Given the description of an element on the screen output the (x, y) to click on. 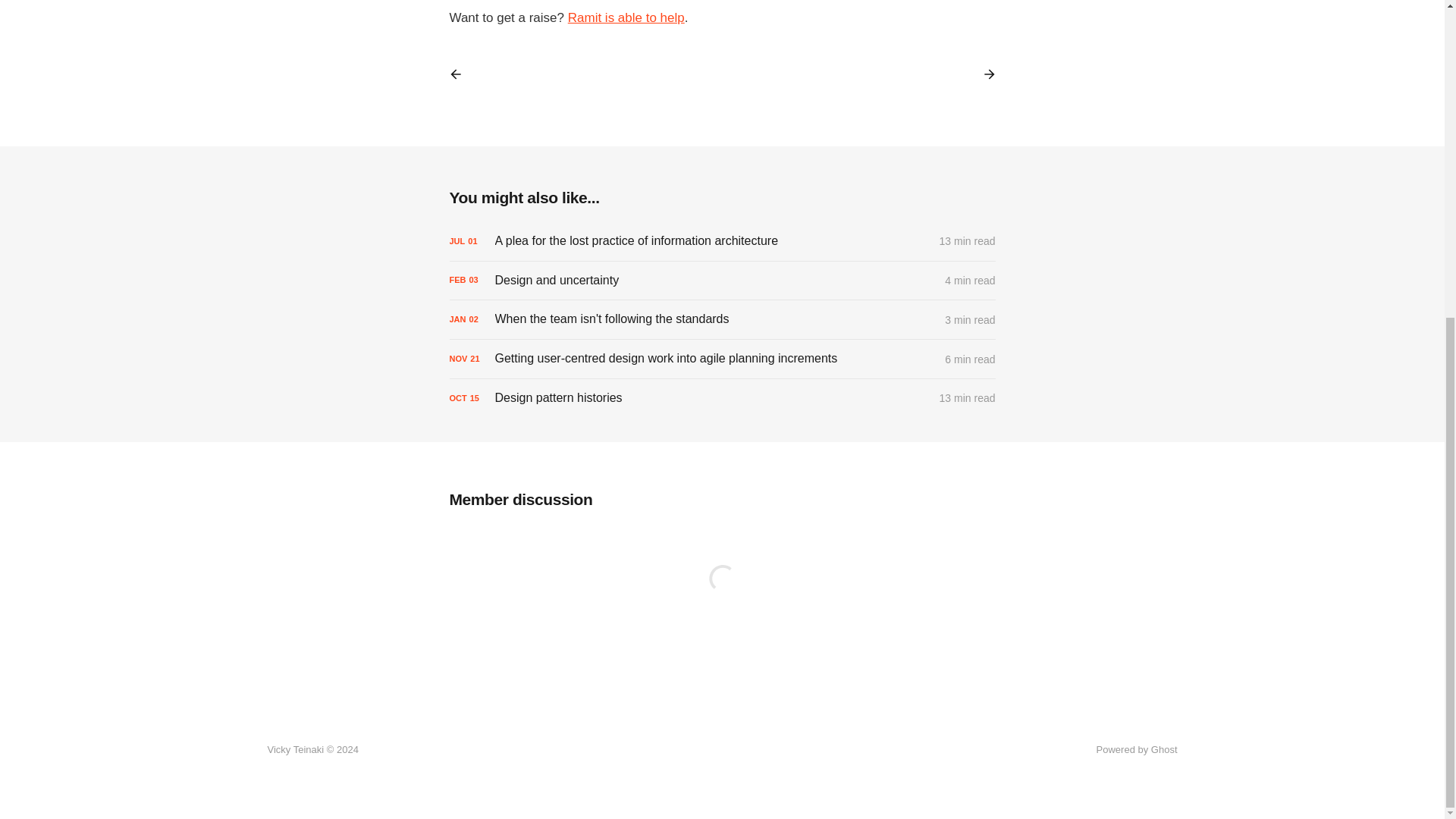
comments-frame (721, 596)
Powered by Ghost (1136, 749)
Ramit is able to help (625, 17)
